Given the description of an element on the screen output the (x, y) to click on. 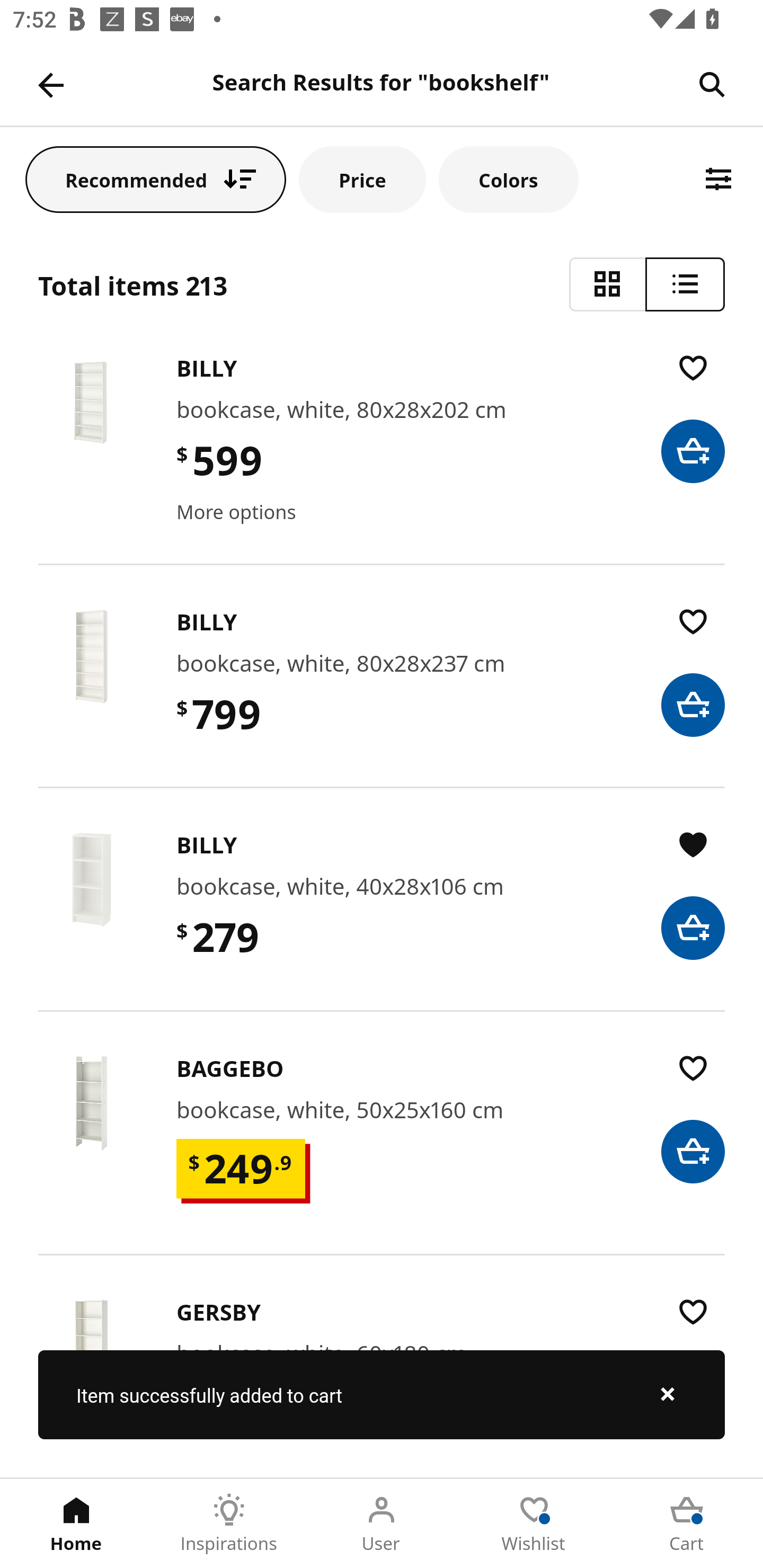
Recommended (155, 179)
Price (362, 179)
Colors (508, 179)
​B​I​L​L​Y​
bookcase, white, 80x28x237 cm
$
799 (381, 695)
​B​I​L​L​Y​
bookcase, white, 40x28x106 cm
$
279 (381, 917)
Item successfully added to cart (381, 1394)
Home
Tab 1 of 5 (76, 1522)
Inspirations
Tab 2 of 5 (228, 1522)
User
Tab 3 of 5 (381, 1522)
Wishlist
Tab 4 of 5 (533, 1522)
Cart
Tab 5 of 5 (686, 1522)
